Given the description of an element on the screen output the (x, y) to click on. 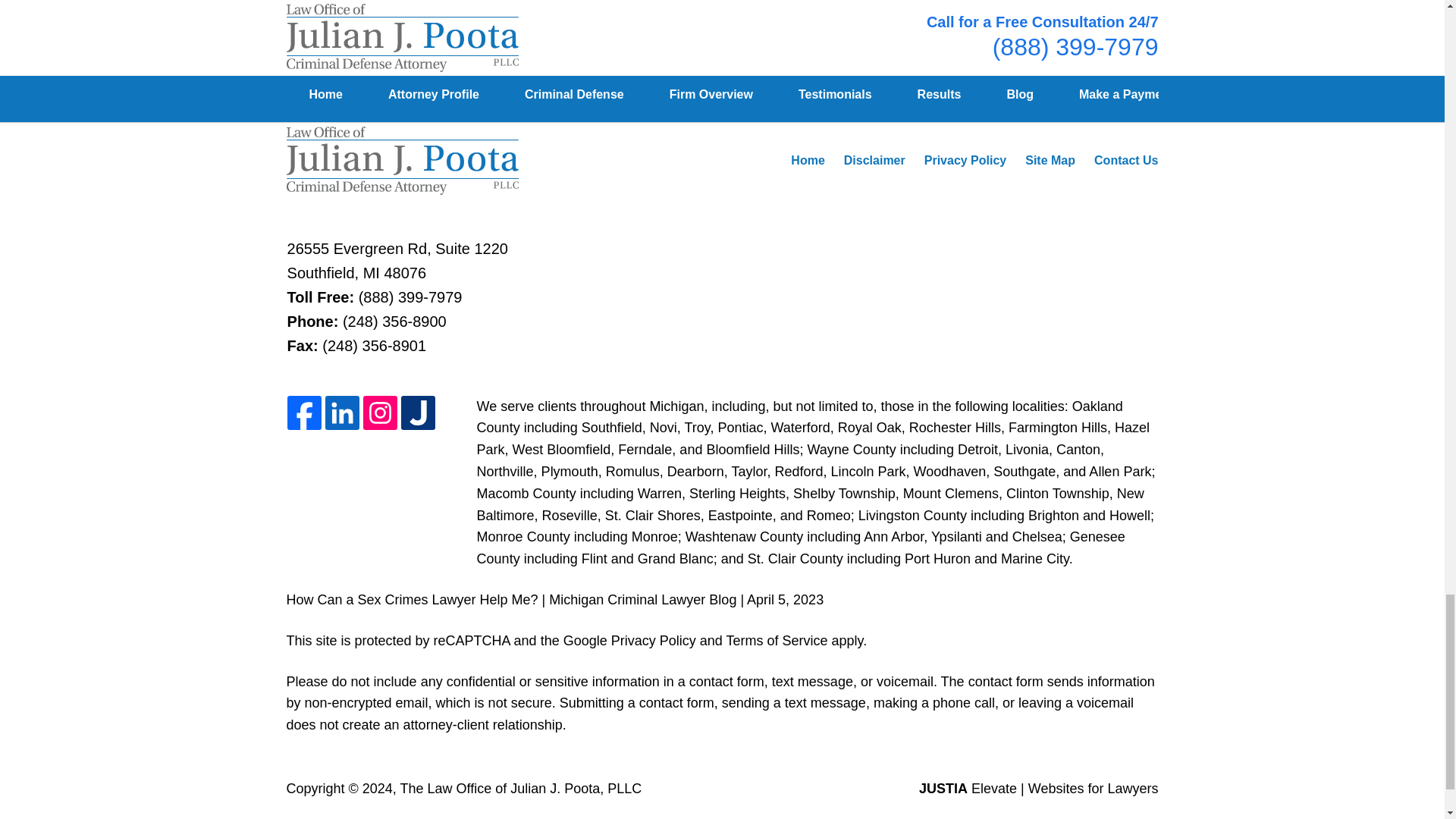
Facebook (303, 413)
Justia (418, 413)
Instagram (379, 413)
Linkedin (341, 413)
